Given the description of an element on the screen output the (x, y) to click on. 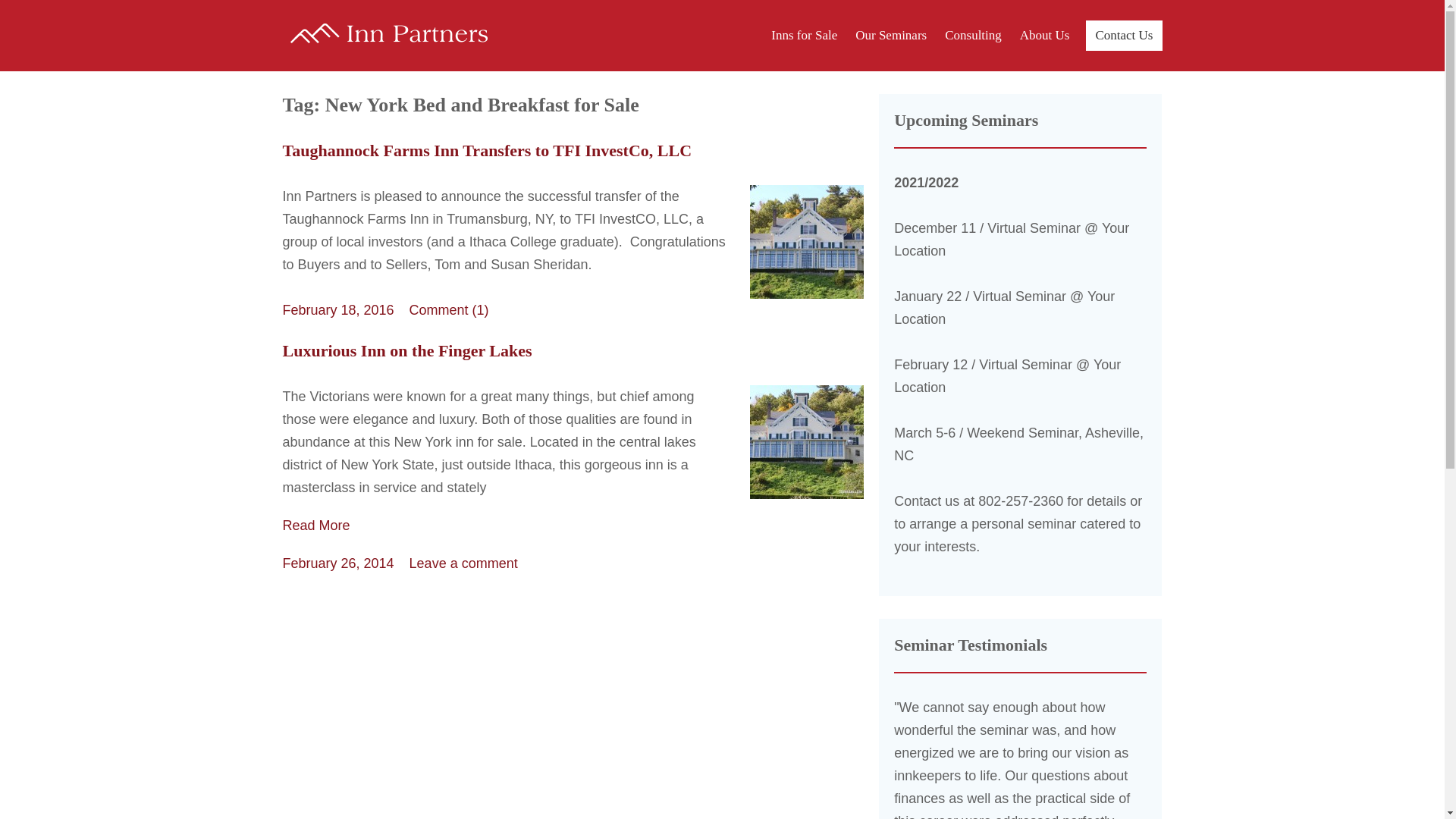
February 18, 2016 (337, 309)
Taughannock Farms Inn Transfers to TFI InvestCo, LLC (486, 149)
February 26, 2014 (337, 563)
About Us (1044, 35)
Our Seminars (890, 35)
Consulting (973, 35)
Inns for Sale (803, 35)
Read More (572, 525)
Luxurious Inn on the Finger Lakes (406, 350)
Leave a comment (463, 563)
Contact Us (1123, 35)
